Given the description of an element on the screen output the (x, y) to click on. 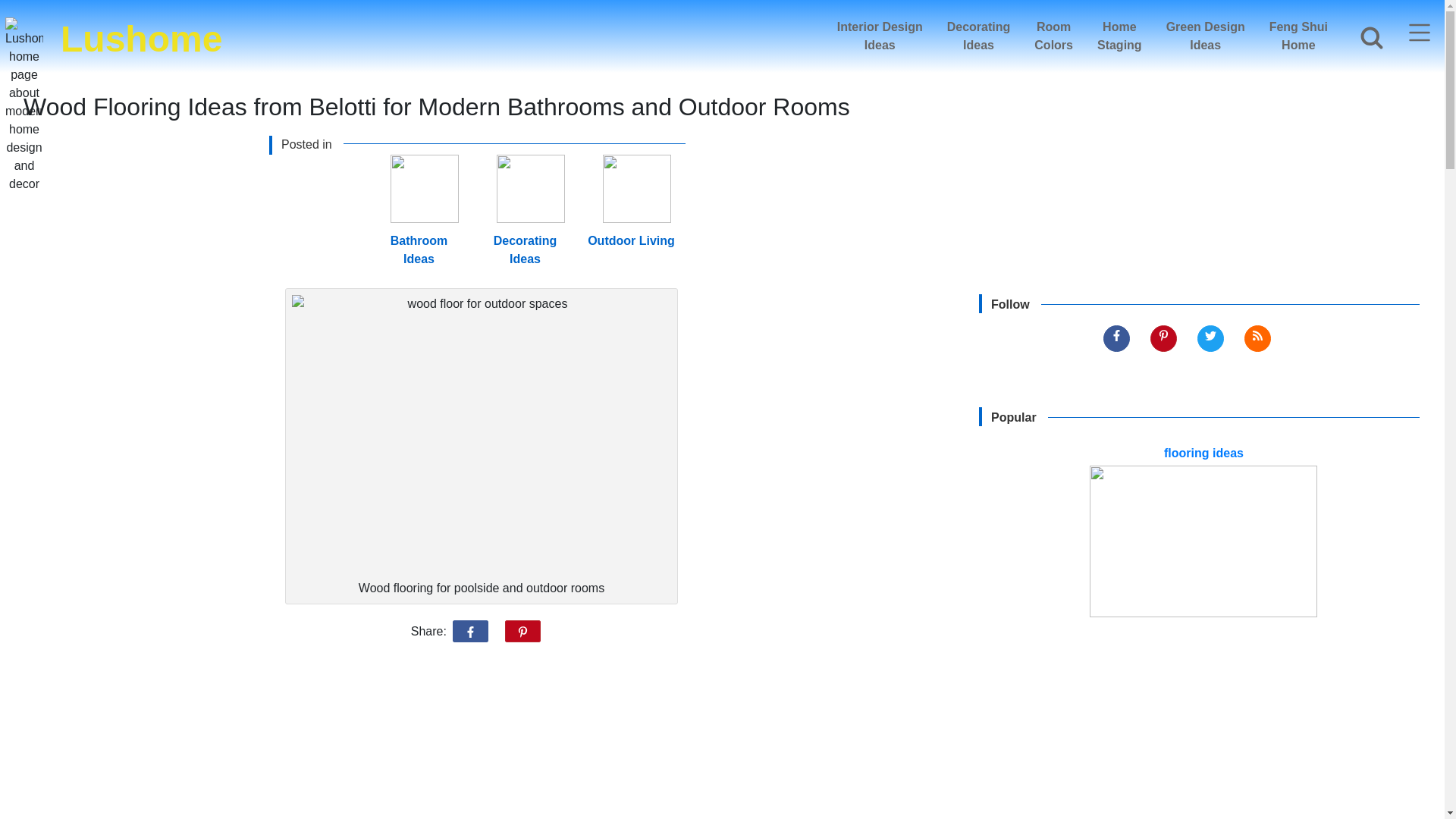
Lushome (879, 36)
